Given the description of an element on the screen output the (x, y) to click on. 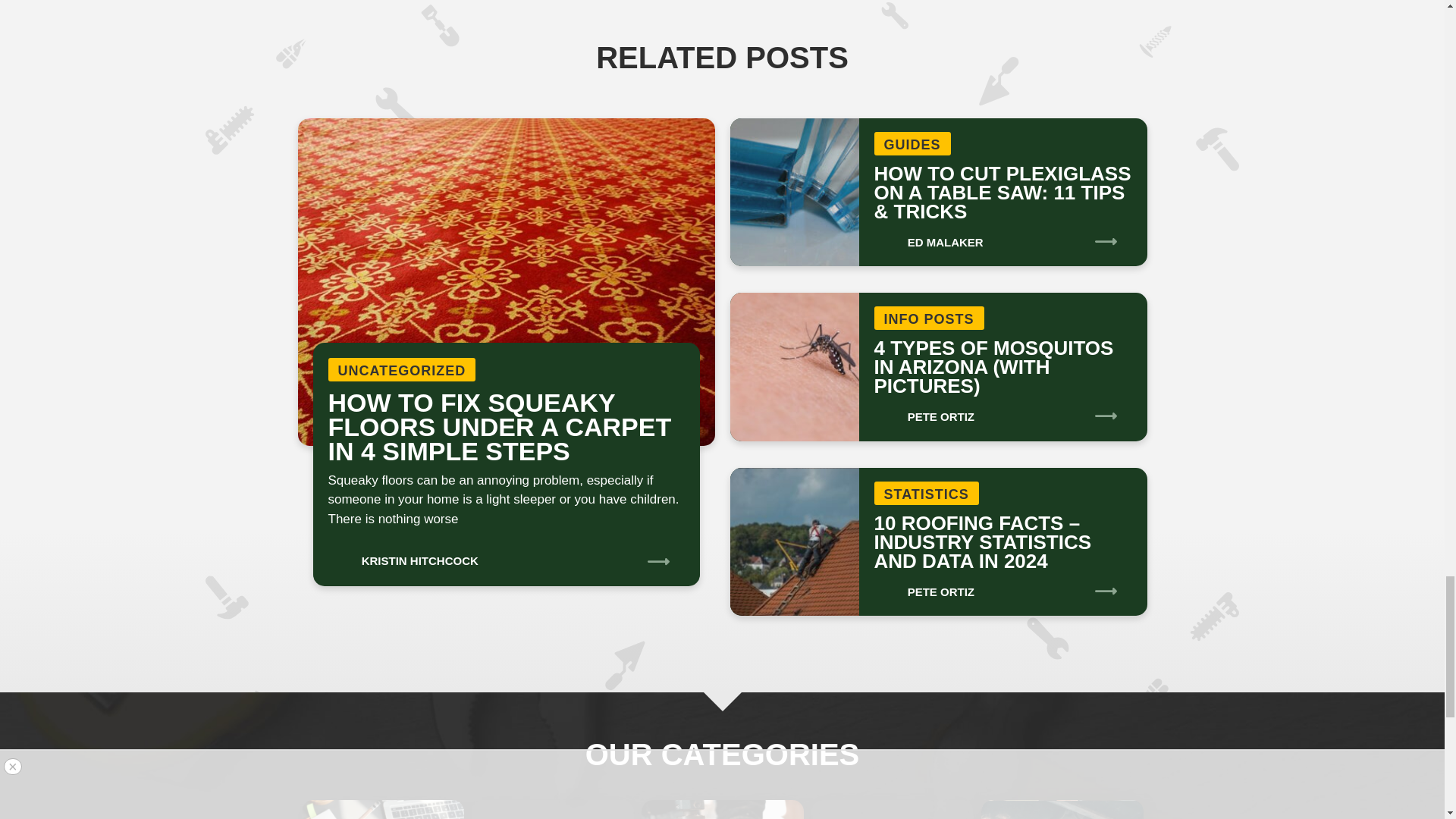
KRISTIN HITCHCOCK (402, 555)
ED MALAKER (927, 237)
PETE ORTIZ (923, 411)
